Given the description of an element on the screen output the (x, y) to click on. 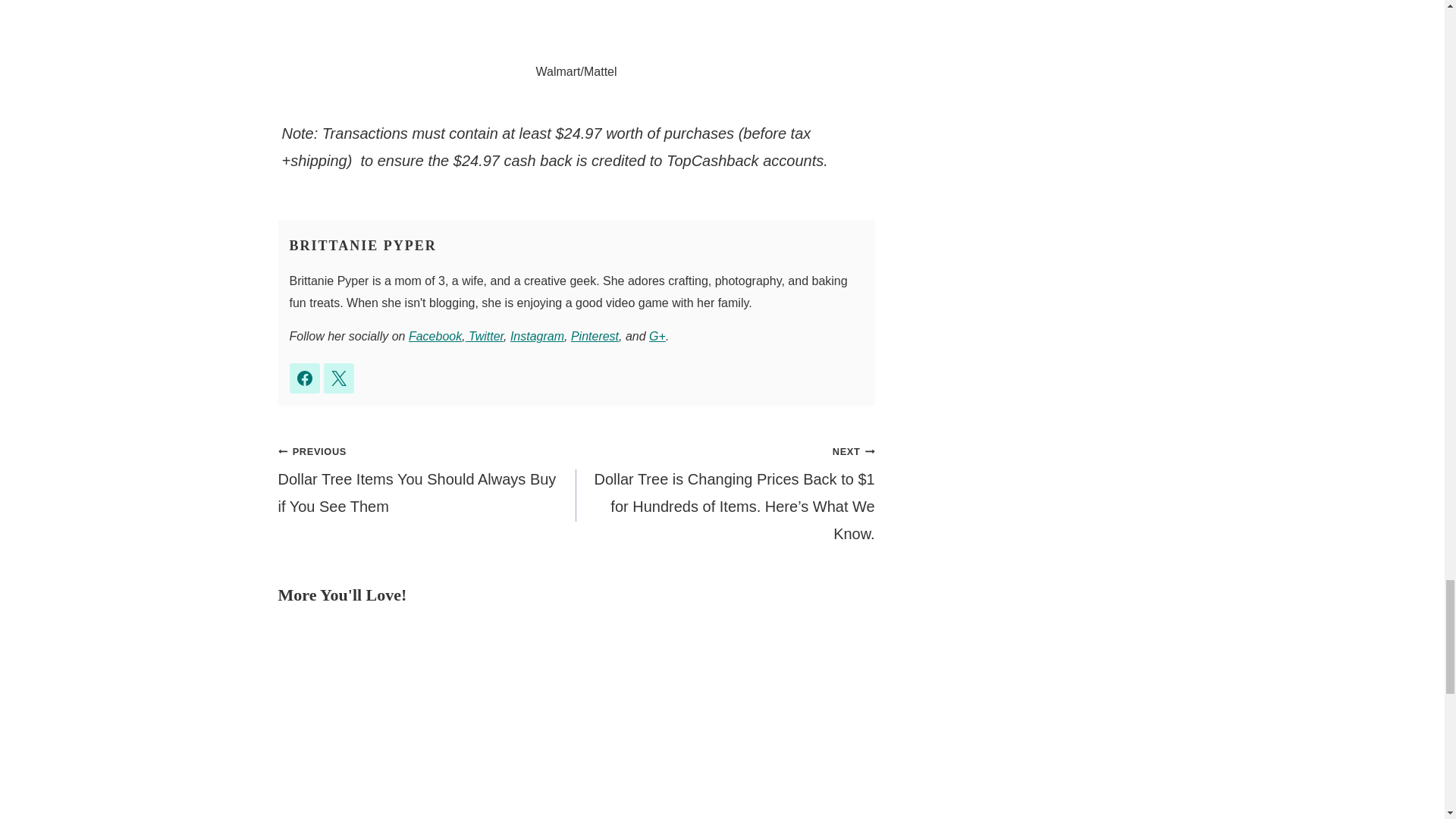
Twitter (484, 336)
Facebook (435, 336)
Posts by Brittanie Pyper (362, 245)
Instagram (537, 336)
